Given the description of an element on the screen output the (x, y) to click on. 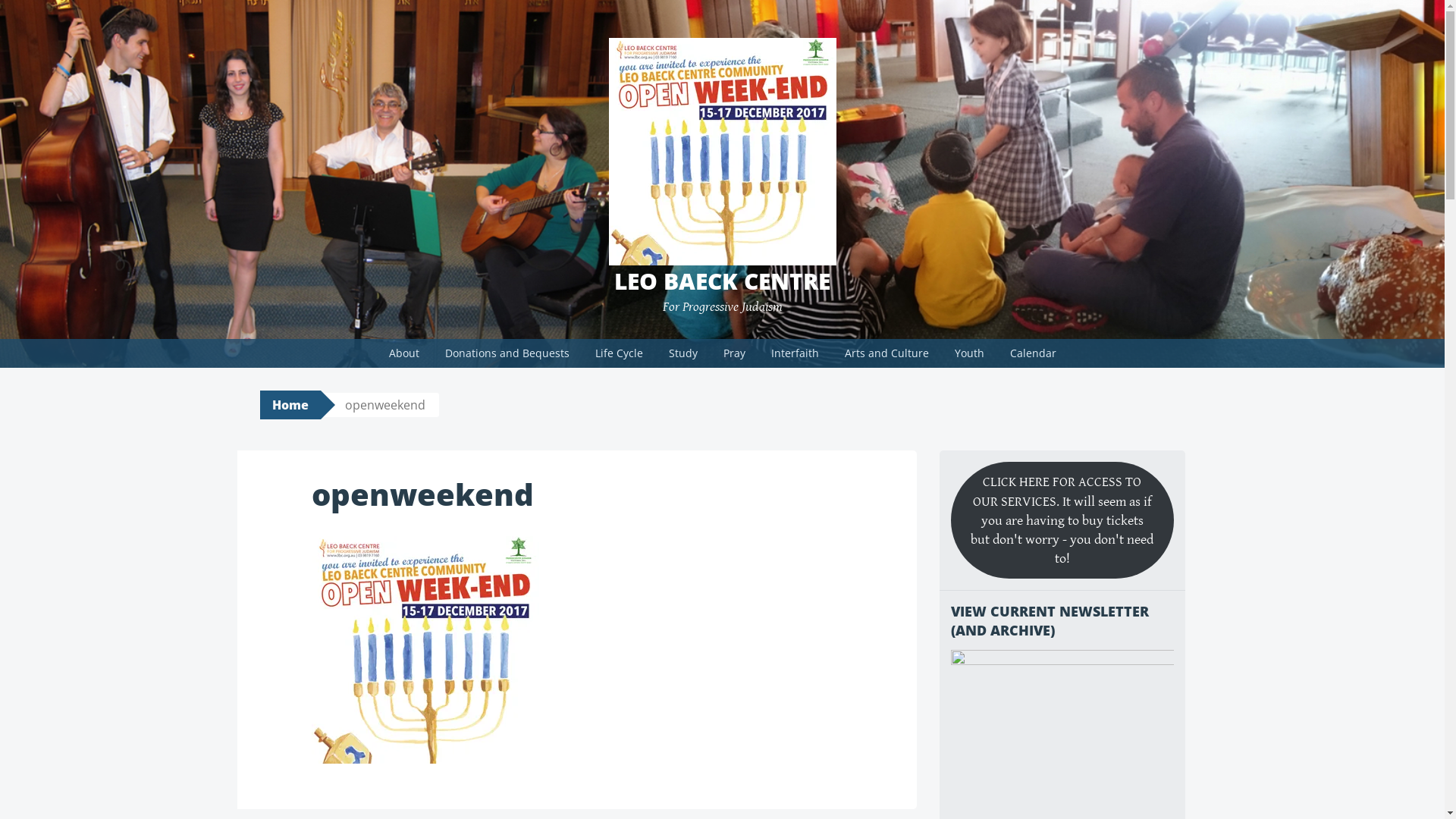
Youth Element type: text (969, 352)
Interfaith Element type: text (794, 352)
Arts and Culture Element type: text (885, 352)
Calendar Element type: text (1031, 352)
Study Element type: text (682, 352)
About Element type: text (403, 352)
Donations and Bequests Element type: text (506, 352)
Life Cycle Element type: text (618, 352)
Home Element type: text (289, 404)
Search Element type: text (31, 14)
LEO BAECK CENTRE Element type: text (722, 280)
Pray Element type: text (733, 352)
